Given the description of an element on the screen output the (x, y) to click on. 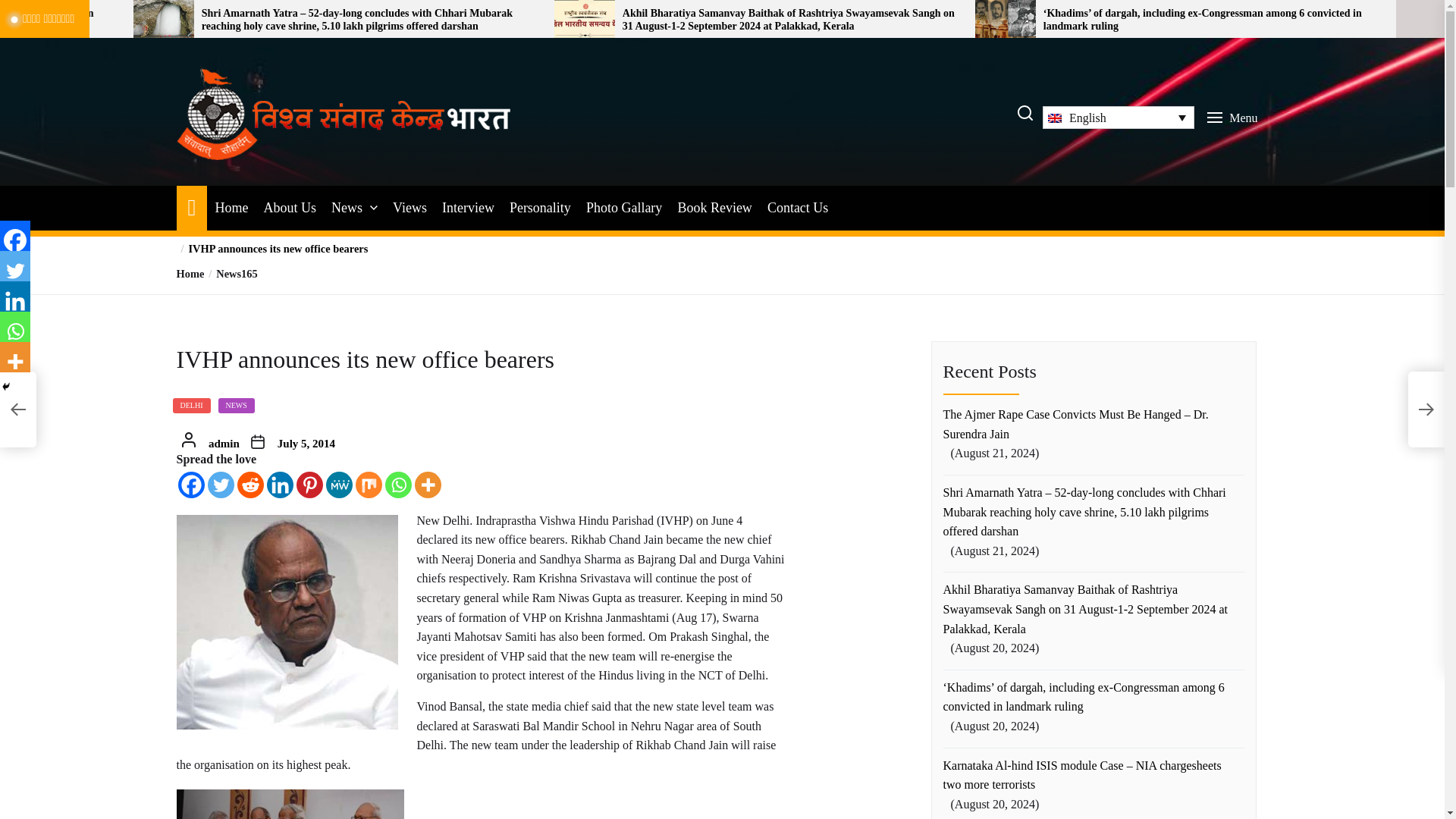
More (15, 357)
Facebook (15, 235)
Twitter (15, 265)
Mix (368, 484)
Reddit (249, 484)
Pinterest (308, 484)
Twitter (221, 484)
Whatsapp (398, 484)
More (427, 484)
